Given the description of an element on the screen output the (x, y) to click on. 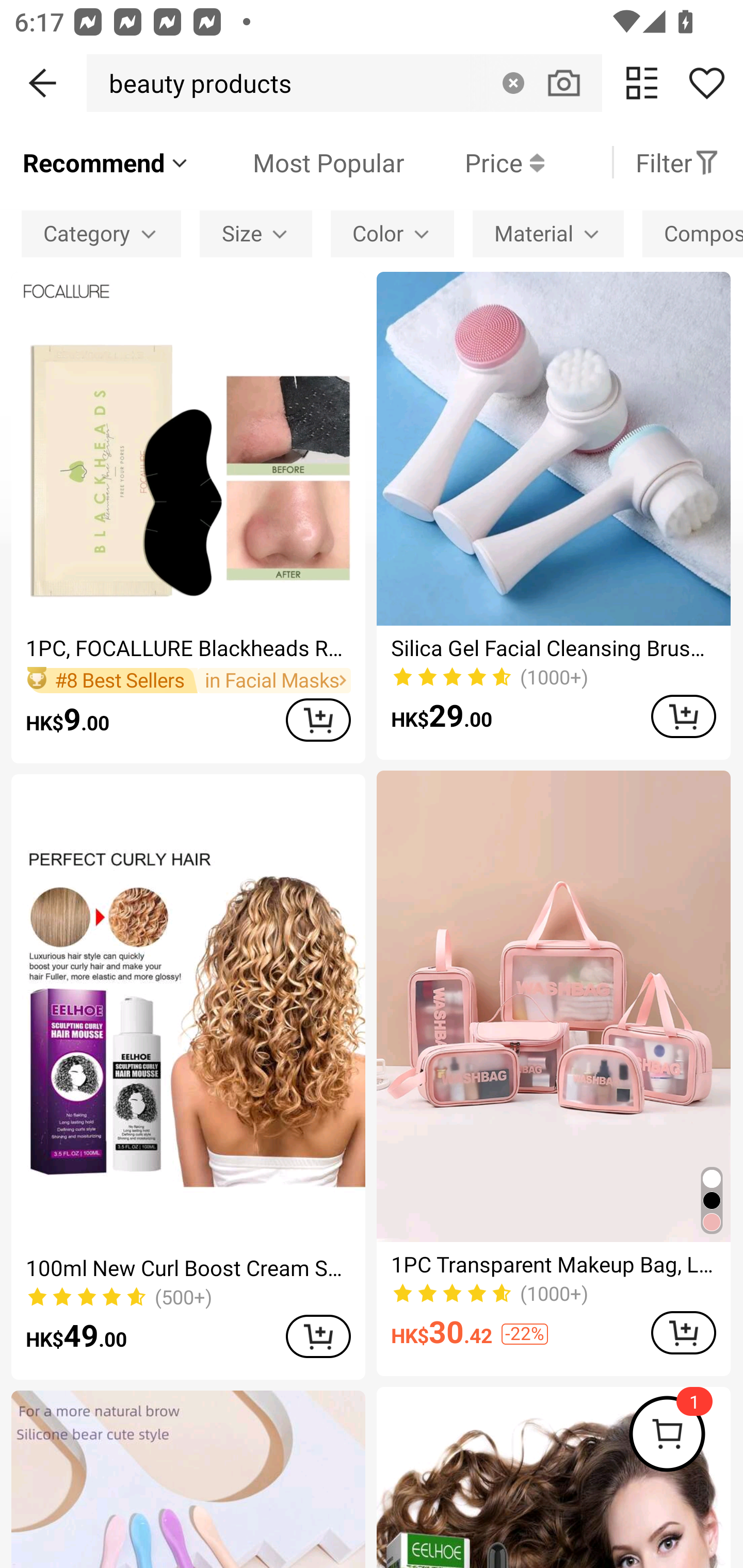
beauty products Clear (343, 82)
beauty products (193, 82)
Clear (513, 82)
change view (641, 82)
Share (706, 82)
Recommend (106, 162)
Most Popular (297, 162)
Price (474, 162)
Filter (677, 162)
Category (101, 233)
Size (255, 233)
Color (391, 233)
Material (548, 233)
Composition (692, 233)
#8 Best Sellers in Facial Masks (188, 680)
ADD TO CART (683, 716)
ADD TO CART (318, 719)
ADD TO CART (683, 1332)
ADD TO CART (318, 1335)
